Given the description of an element on the screen output the (x, y) to click on. 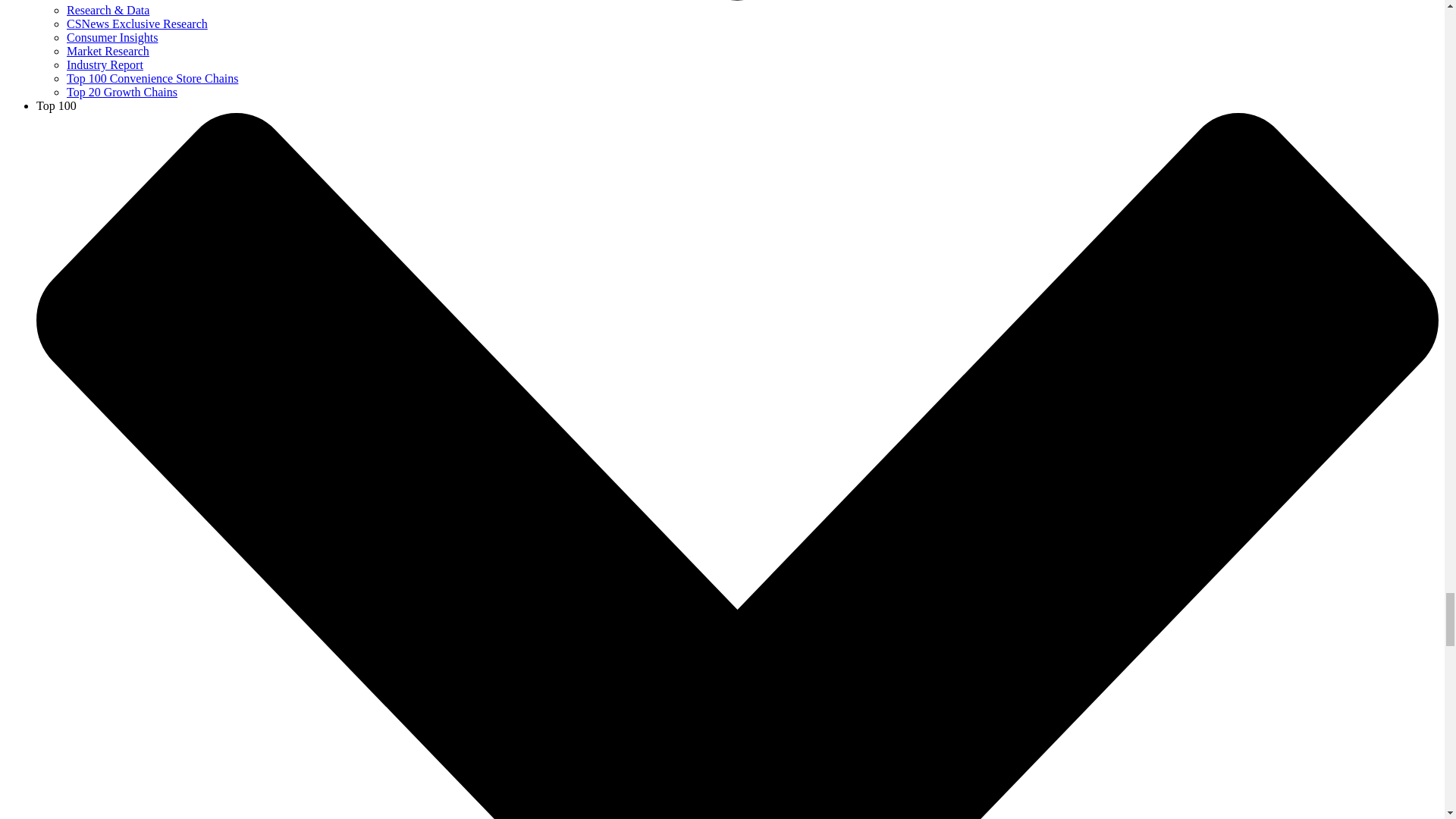
CSNews Exclusive Research (137, 23)
Top 100 (56, 105)
Market Research (107, 51)
Top 100 Convenience Store Chains (152, 78)
Consumer Insights (111, 37)
Industry Report (104, 64)
Top 20 Growth Chains (121, 91)
